Given the description of an element on the screen output the (x, y) to click on. 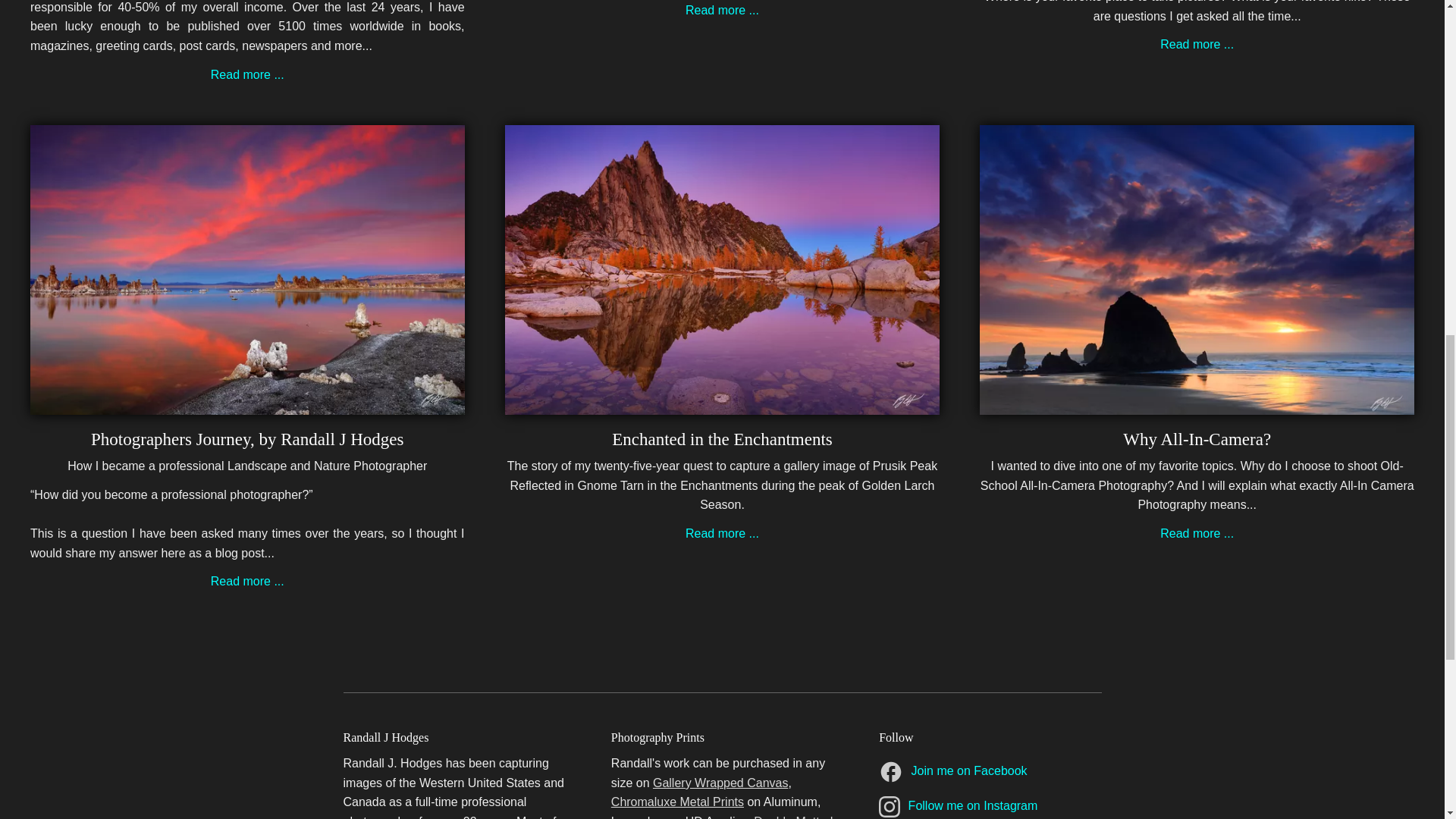
Photographers Journey, by Randall J Hodges (247, 404)
Photographers Journey, by Randall J Hodges (246, 438)
Enchanted in The Enchantments, by Randall J Hodges (721, 438)
Gallery Wrapped Canvas (719, 782)
Photographers Journey, by Randall J Hodges (247, 581)
Why All-In-Camera? (1196, 438)
Lumachrome HD Acrylics (679, 816)
Enchanted in the Enchantments (721, 438)
Read more ... (1196, 43)
Double Matted Profession Luster Prints (721, 816)
